Given the description of an element on the screen output the (x, y) to click on. 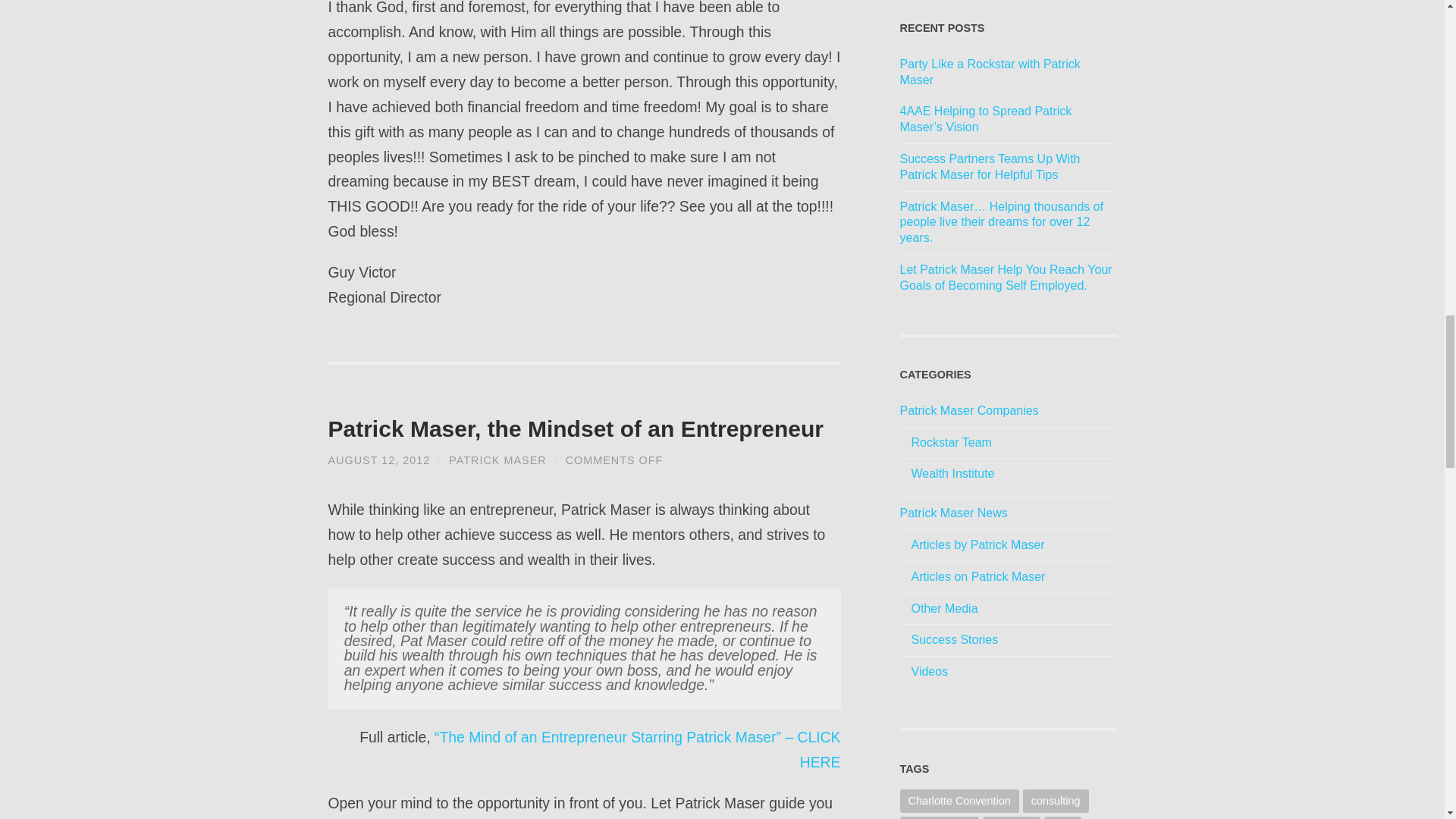
Patrick Maser, the Mindset of an Entrepreneur (378, 460)
Posts by Patrick Maser (497, 460)
Patrick Maser, the Mindset of an Entrepreneur (575, 428)
Patrick Maser, the Mindset of an Entrepreneur (575, 428)
PATRICK MASER (497, 460)
AUGUST 12, 2012 (378, 460)
